Given the description of an element on the screen output the (x, y) to click on. 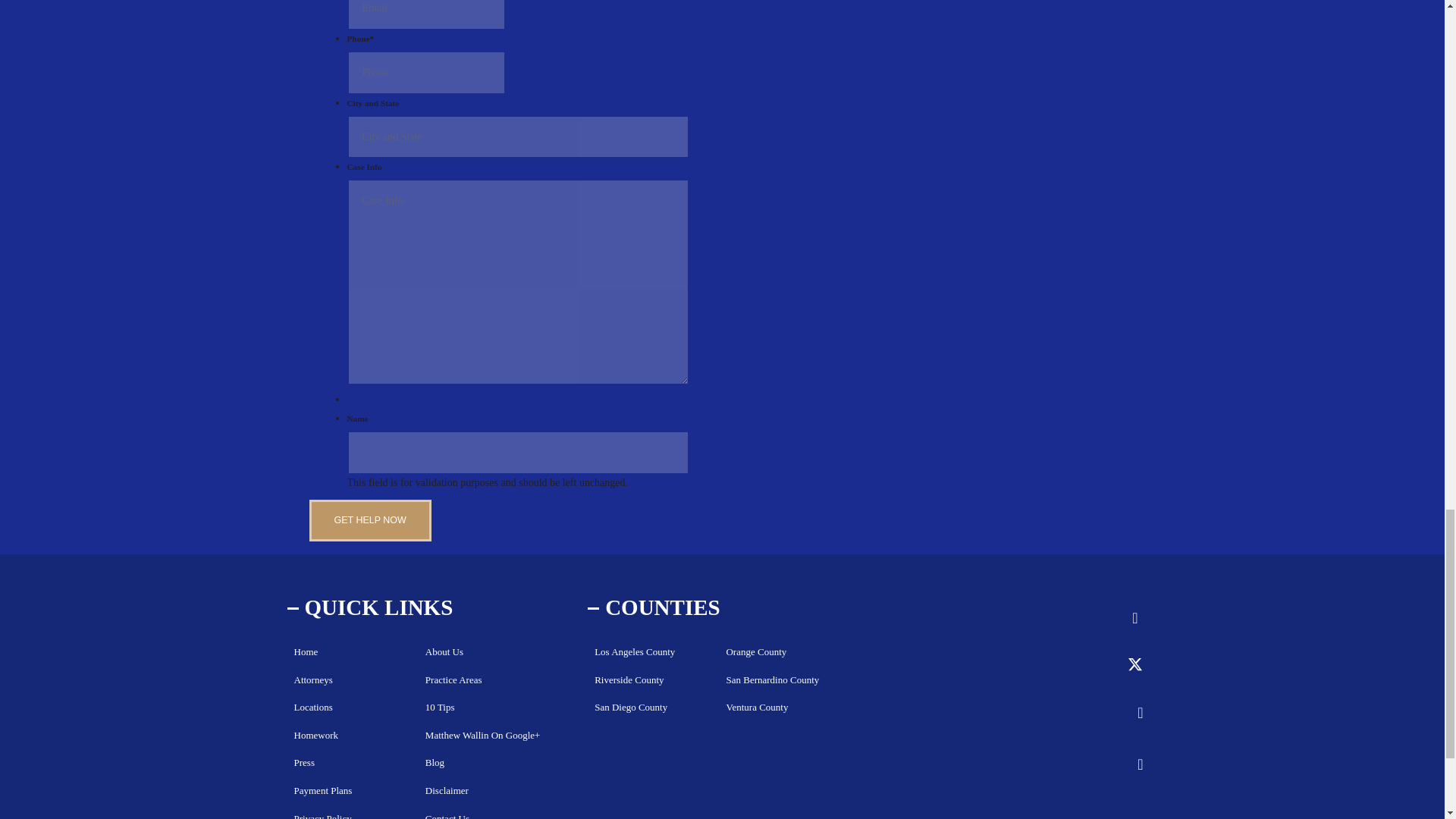
Get Help Now (369, 520)
